Given the description of an element on the screen output the (x, y) to click on. 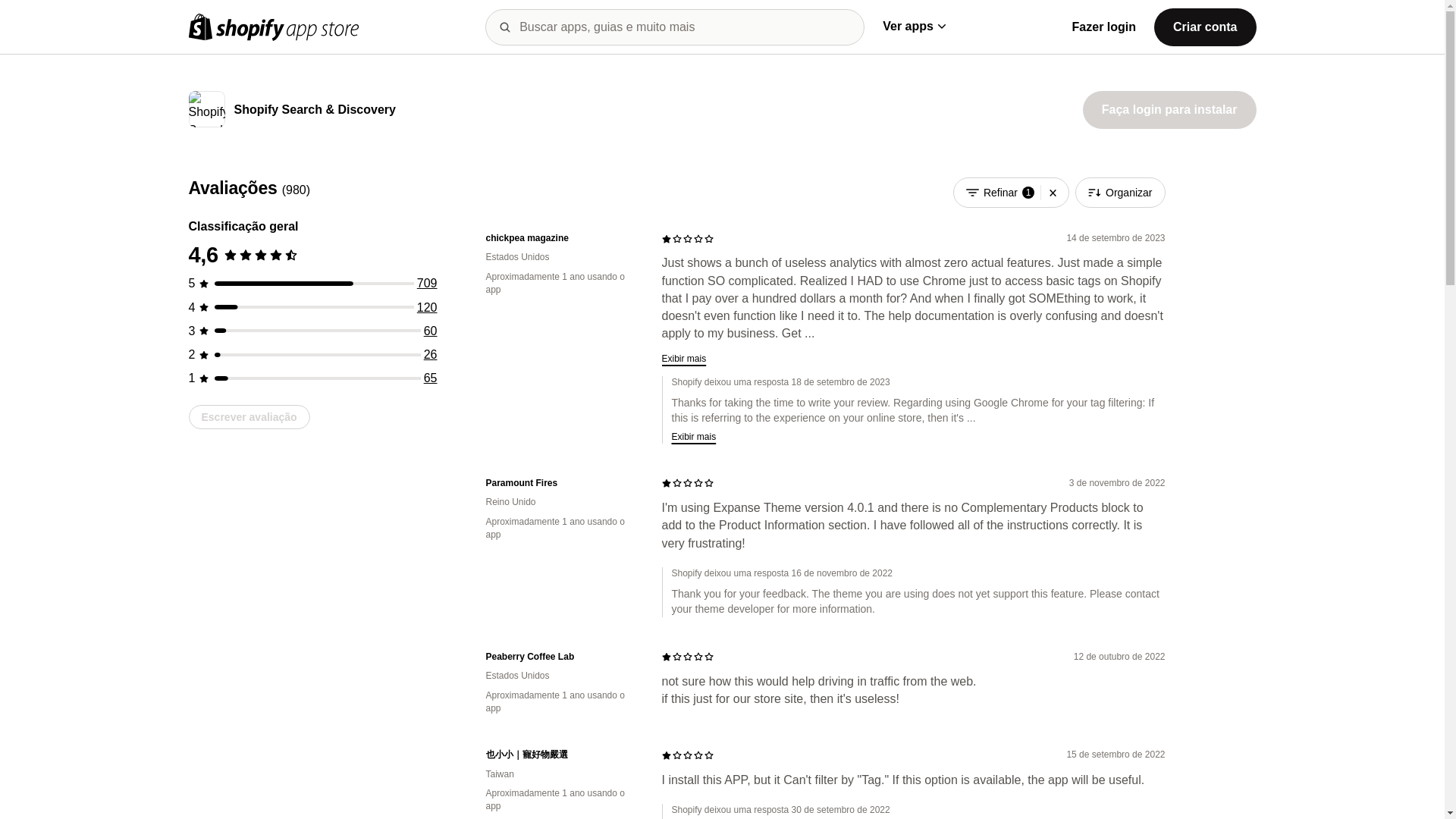
60 (430, 330)
Fazer login (1103, 27)
Ver apps (913, 26)
Paramount Fires (560, 482)
65 (430, 377)
709 (427, 282)
Peaberry Coffee Lab (560, 656)
Criar conta (1204, 26)
120 (427, 307)
26 (430, 354)
chickpea magazine (560, 237)
